Given the description of an element on the screen output the (x, y) to click on. 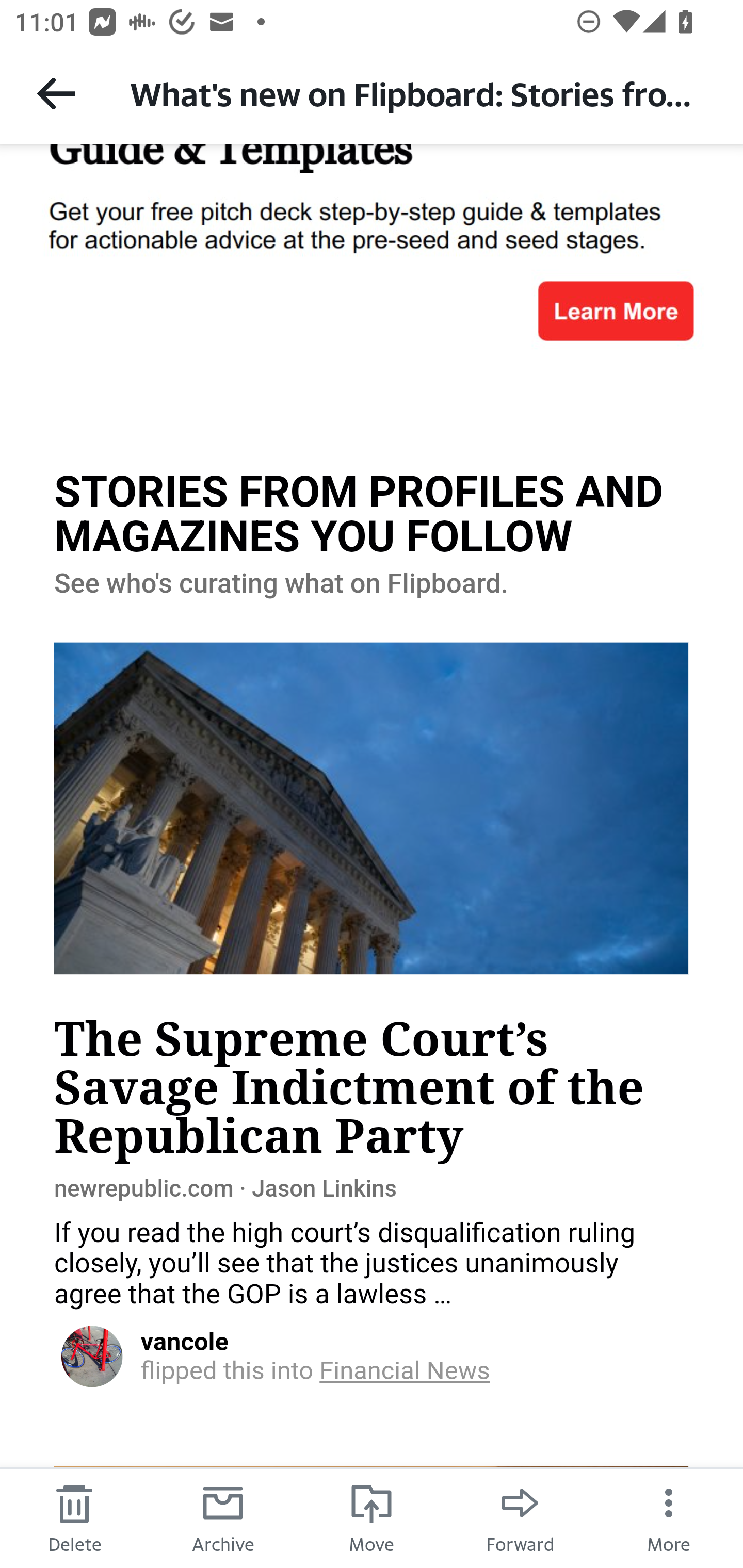
Back (55, 92)
V (91, 1356)
Financial News (403, 1370)
Delete (74, 1517)
Archive (222, 1517)
Move (371, 1517)
Forward (519, 1517)
More (668, 1517)
